Given the description of an element on the screen output the (x, y) to click on. 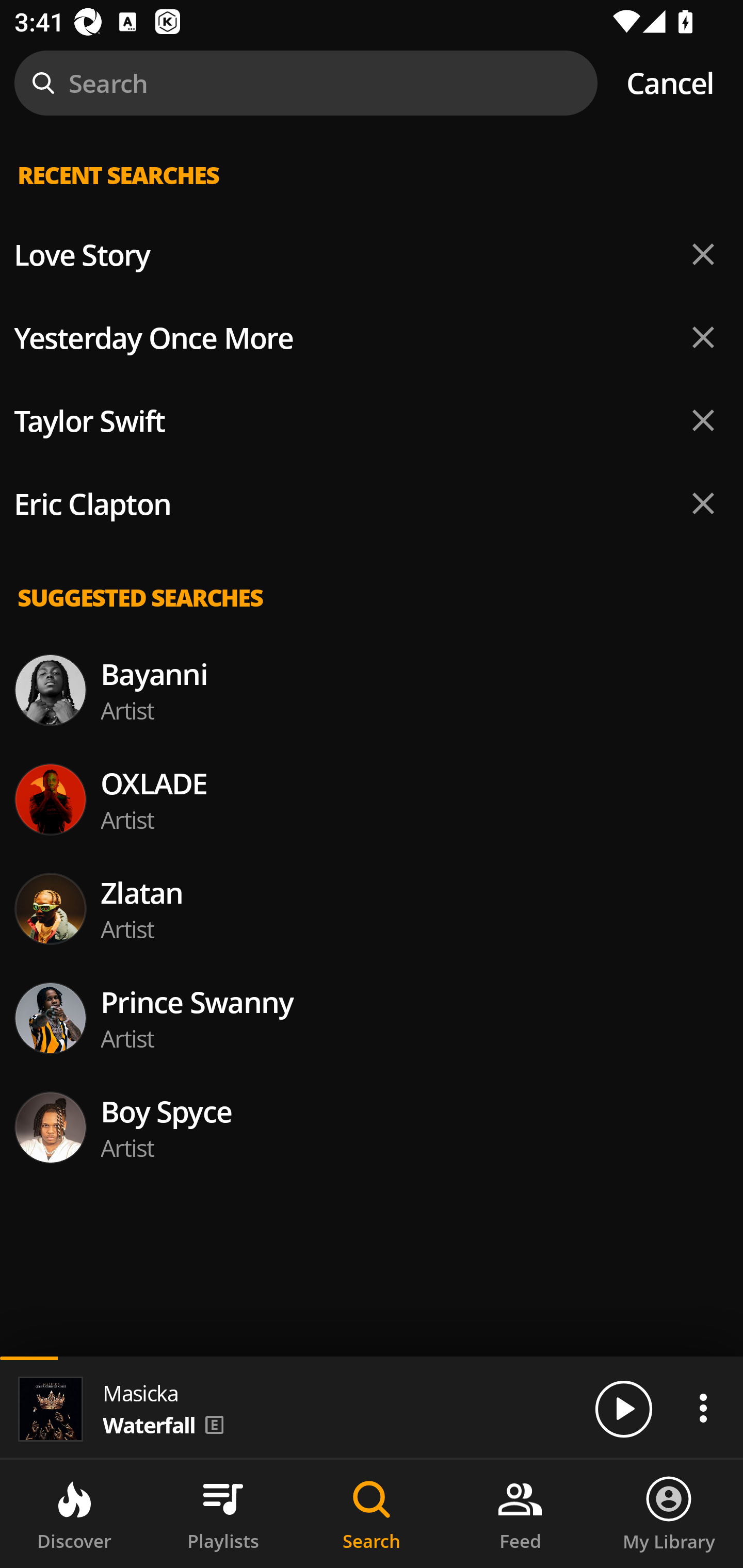
Search Cancel (371, 82)
Cancel (670, 82)
Artists, songs, albums and playlists… (371, 191)
Love Story Delete (371, 254)
Delete (703, 254)
Yesterday Once More Delete (371, 337)
Delete (703, 336)
Taylor Swift Delete (371, 420)
Delete (703, 420)
Eric Clapton Delete (371, 503)
Delete (703, 503)
Bayanni Artist (371, 689)
OXLADE Artist (371, 799)
Zlatan Artist (371, 908)
Prince Swanny Artist (371, 1017)
Boy Spyce Artist (371, 1127)
Actions (703, 1407)
Play/Pause (623, 1408)
Discover (74, 1513)
Playlists (222, 1513)
Search (371, 1513)
Feed (519, 1513)
My Library (668, 1513)
